Given the description of an element on the screen output the (x, y) to click on. 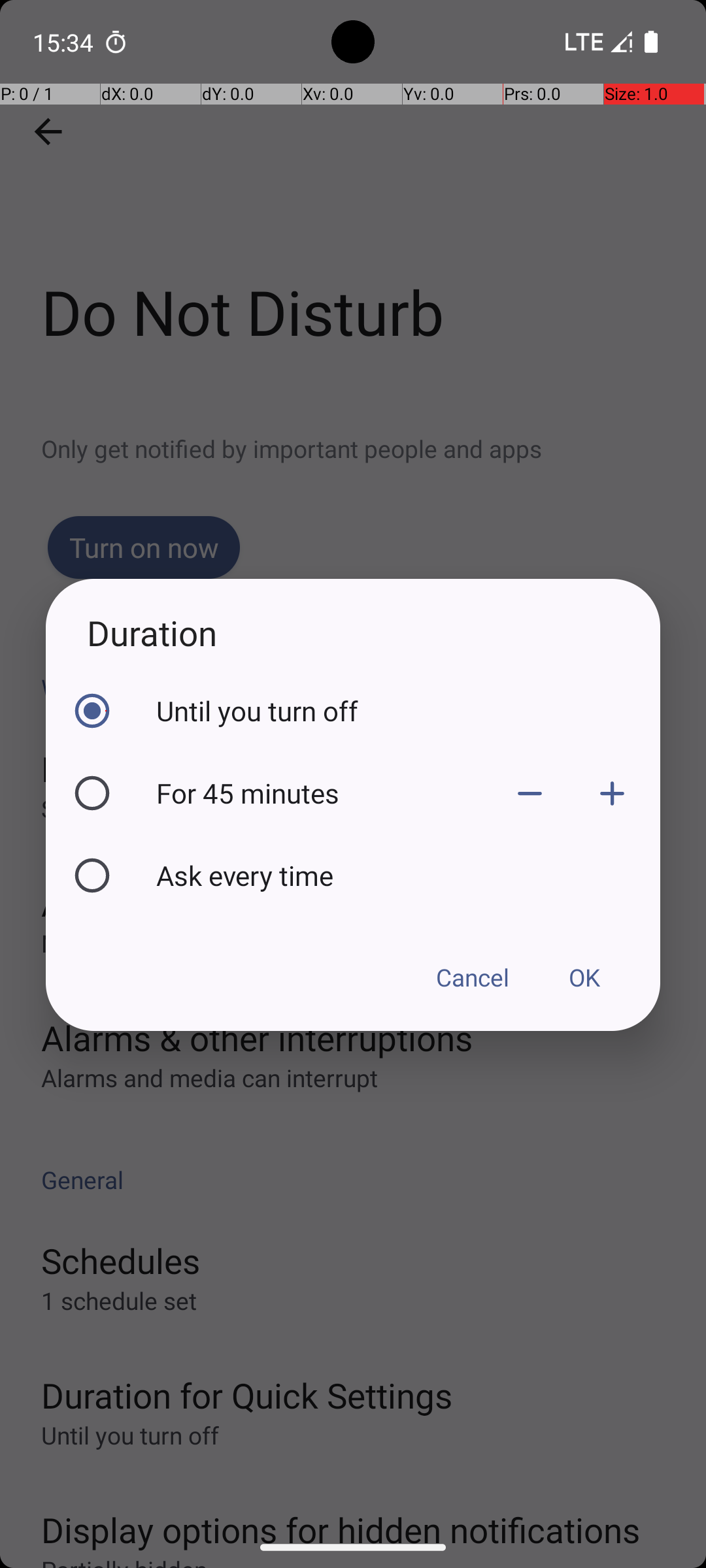
Duration Element type: android.widget.TextView (352, 632)
Less time. Element type: android.widget.ImageView (529, 792)
More time. Element type: android.widget.ImageView (611, 792)
For 45 minutes Element type: android.widget.TextView (322, 792)
Ask every time Element type: android.widget.TextView (404, 874)
